Given the description of an element on the screen output the (x, y) to click on. 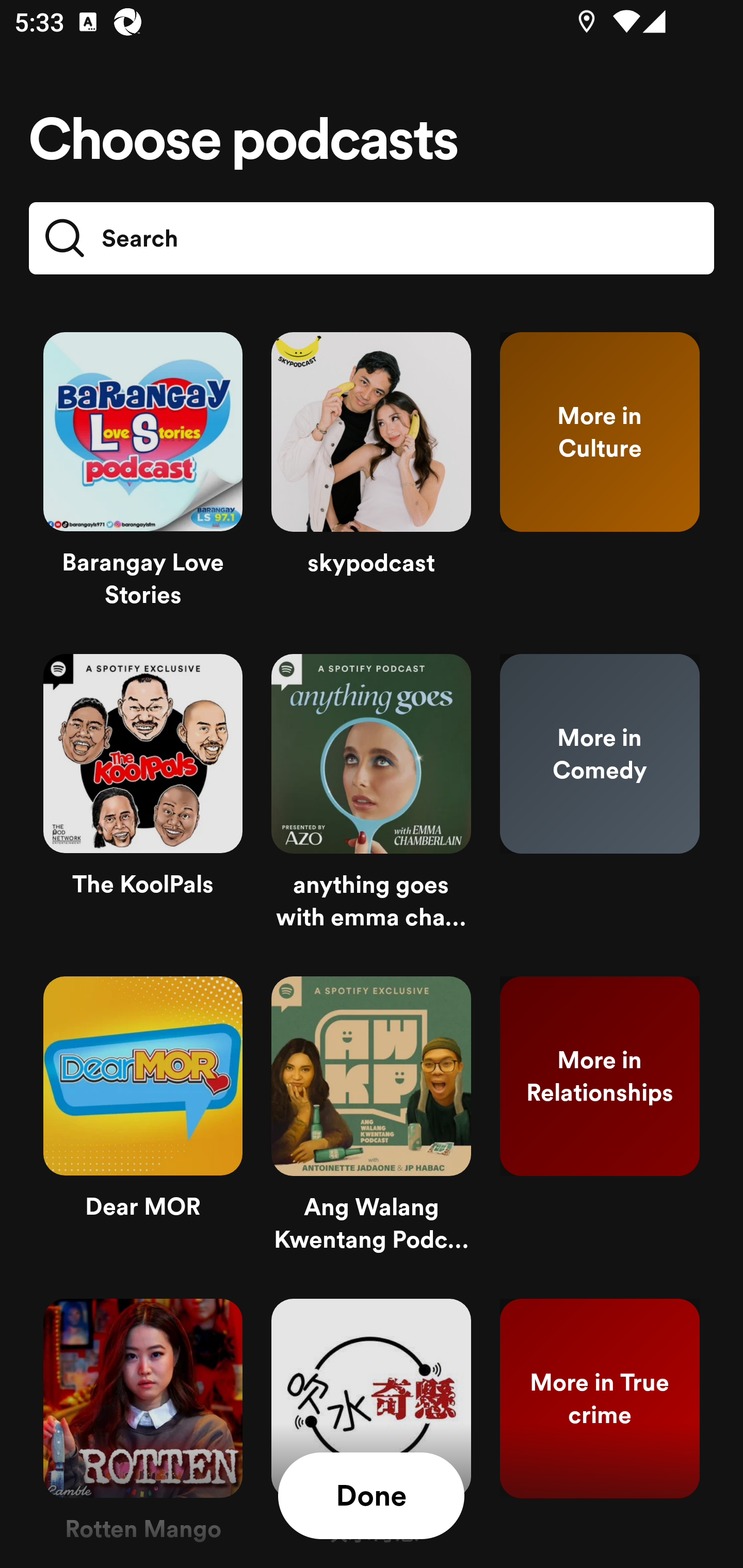
Search (371, 238)
Search (110, 238)
skypodcast unselected skypodcast (371, 478)
More in Culture (599, 478)
The KoolPals unselected The KoolPals (142, 800)
More in Comedy (599, 800)
Dear MOR unselected Dear MOR (142, 1122)
More in Relationships (599, 1122)
Rotten Mango unselected Rotten Mango (142, 1426)
More in True crime (599, 1426)
Done (370, 1495)
